Given the description of an element on the screen output the (x, y) to click on. 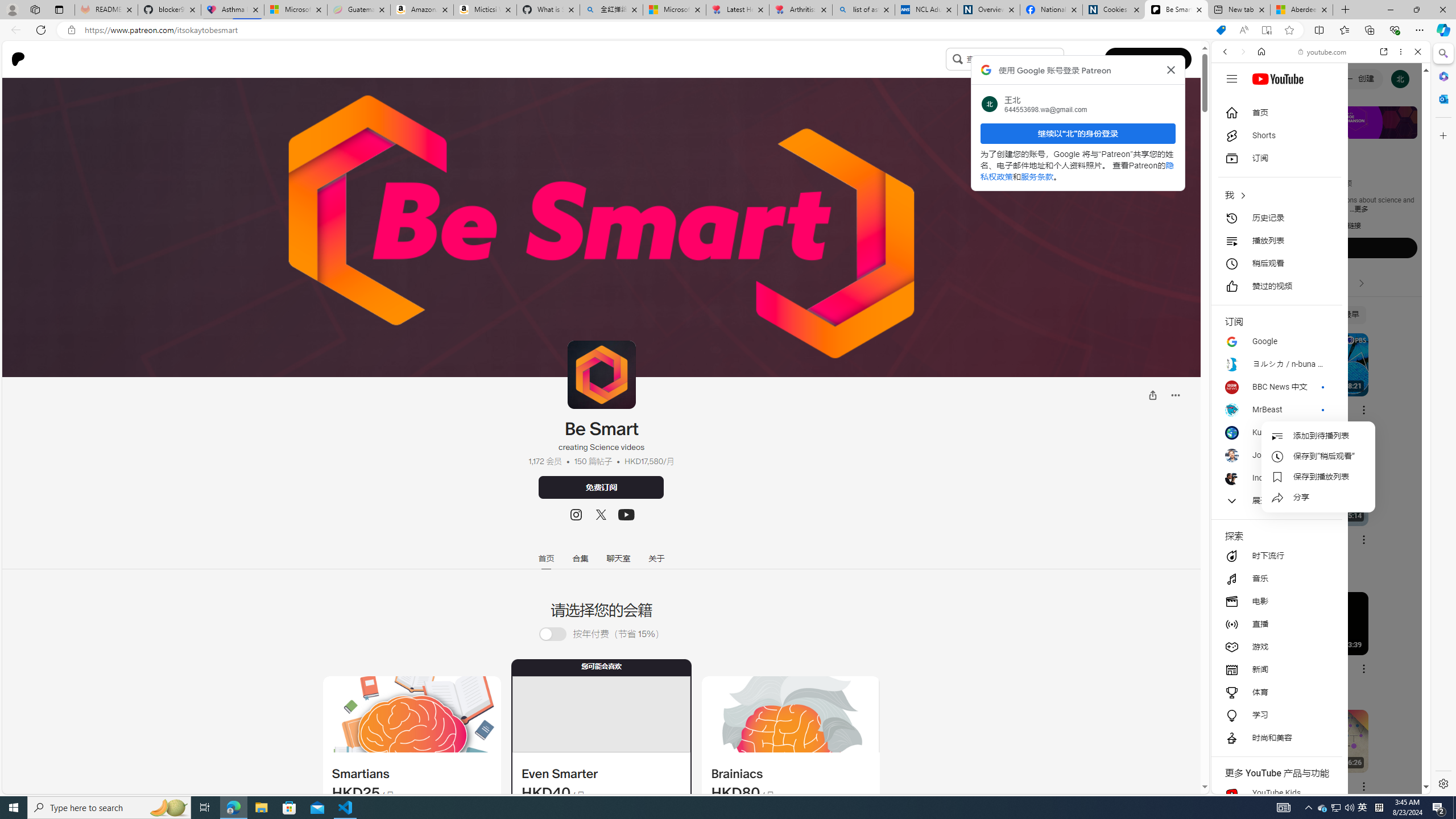
Loading (558, 633)
YouTube (1315, 655)
